Given the description of an element on the screen output the (x, y) to click on. 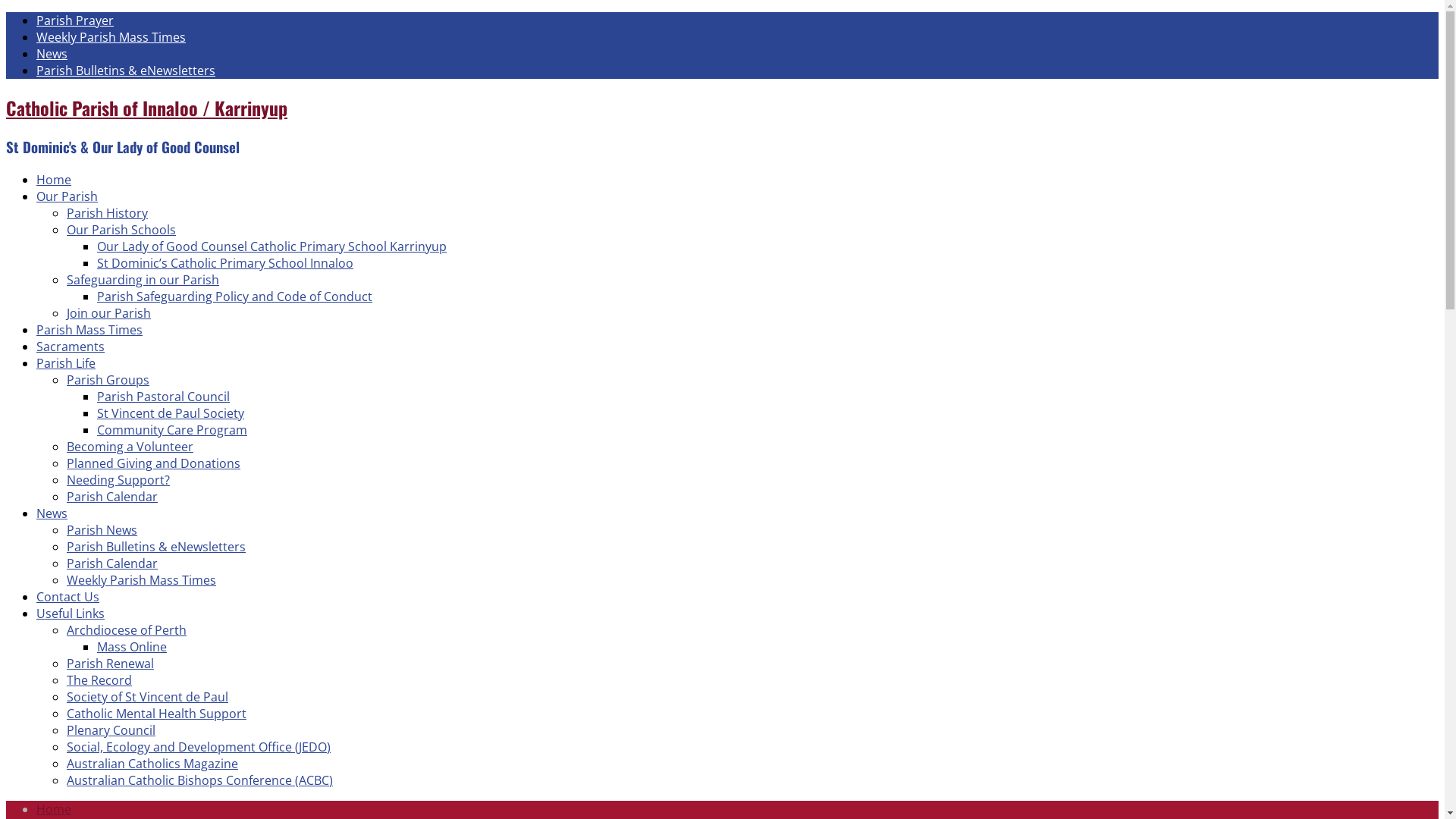
Our Parish Element type: text (66, 196)
Archdiocese of Perth Element type: text (126, 629)
Parish News Element type: text (101, 529)
Social, Ecology and Development Office (JEDO) Element type: text (198, 746)
Needing Support? Element type: text (117, 479)
Weekly Parish Mass Times Element type: text (110, 36)
Australian Catholics Magazine Element type: text (152, 763)
Parish Safeguarding Policy and Code of Conduct Element type: text (234, 296)
Safeguarding in our Parish Element type: text (142, 279)
Home Element type: text (53, 808)
Parish Life Element type: text (65, 362)
News Element type: text (51, 53)
Contact Us Element type: text (67, 596)
Parish Calendar Element type: text (111, 496)
Parish Groups Element type: text (107, 379)
Parish Prayer Element type: text (74, 20)
Our Lady of Good Counsel Catholic Primary School Karrinyup Element type: text (271, 246)
Sacraments Element type: text (70, 346)
Catholic Parish of Innaloo / Karrinyup Element type: text (146, 107)
Weekly Parish Mass Times Element type: text (141, 579)
Useful Links Element type: text (70, 613)
Parish History Element type: text (106, 212)
Home Element type: text (53, 179)
Mass Online Element type: text (131, 646)
Parish Renewal Element type: text (109, 663)
Our Parish Schools Element type: text (120, 229)
News Element type: text (51, 513)
Parish Bulletins & eNewsletters Element type: text (155, 546)
Join our Parish Element type: text (108, 312)
Parish Pastoral Council Element type: text (163, 396)
Society of St Vincent de Paul Element type: text (147, 696)
Plenary Council Element type: text (110, 729)
Community Care Program Element type: text (172, 429)
Planned Giving and Donations Element type: text (153, 463)
Parish Mass Times Element type: text (89, 329)
Parish Bulletins & eNewsletters Element type: text (125, 70)
Catholic Mental Health Support Element type: text (156, 713)
Parish Calendar Element type: text (111, 563)
The Record Element type: text (98, 679)
Becoming a Volunteer Element type: text (129, 446)
Australian Catholic Bishops Conference (ACBC) Element type: text (199, 779)
St Vincent de Paul Society Element type: text (170, 412)
